Given the description of an element on the screen output the (x, y) to click on. 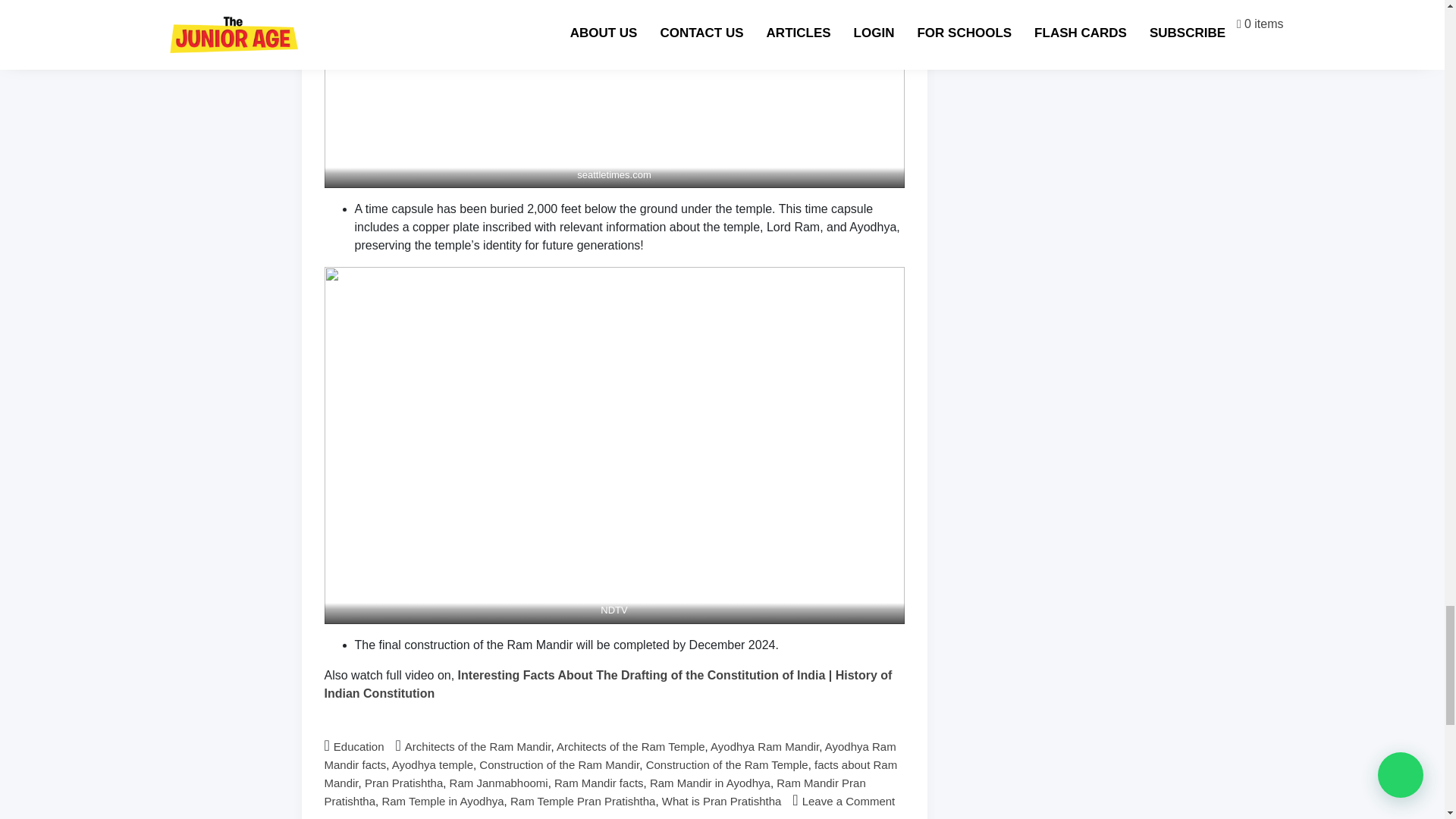
Pran Pratishtha (403, 782)
Architects of the Ram Mandir (477, 746)
Education (358, 746)
Ayodhya Ram Mandir (764, 746)
Construction of the Ram Temple (727, 764)
Construction of the Ram Mandir (559, 764)
Ram Mandir facts (598, 782)
Ram Mandir Pran Pratishtha (595, 791)
facts about Ram Mandir (611, 773)
Ayodhya temple (432, 764)
Architects of the Ram Temple (630, 746)
Ram Janmabhoomi (498, 782)
Ram Mandir in Ayodhya (709, 782)
Ram Temple in Ayodhya (442, 800)
Ayodhya Ram Mandir facts (610, 755)
